Given the description of an element on the screen output the (x, y) to click on. 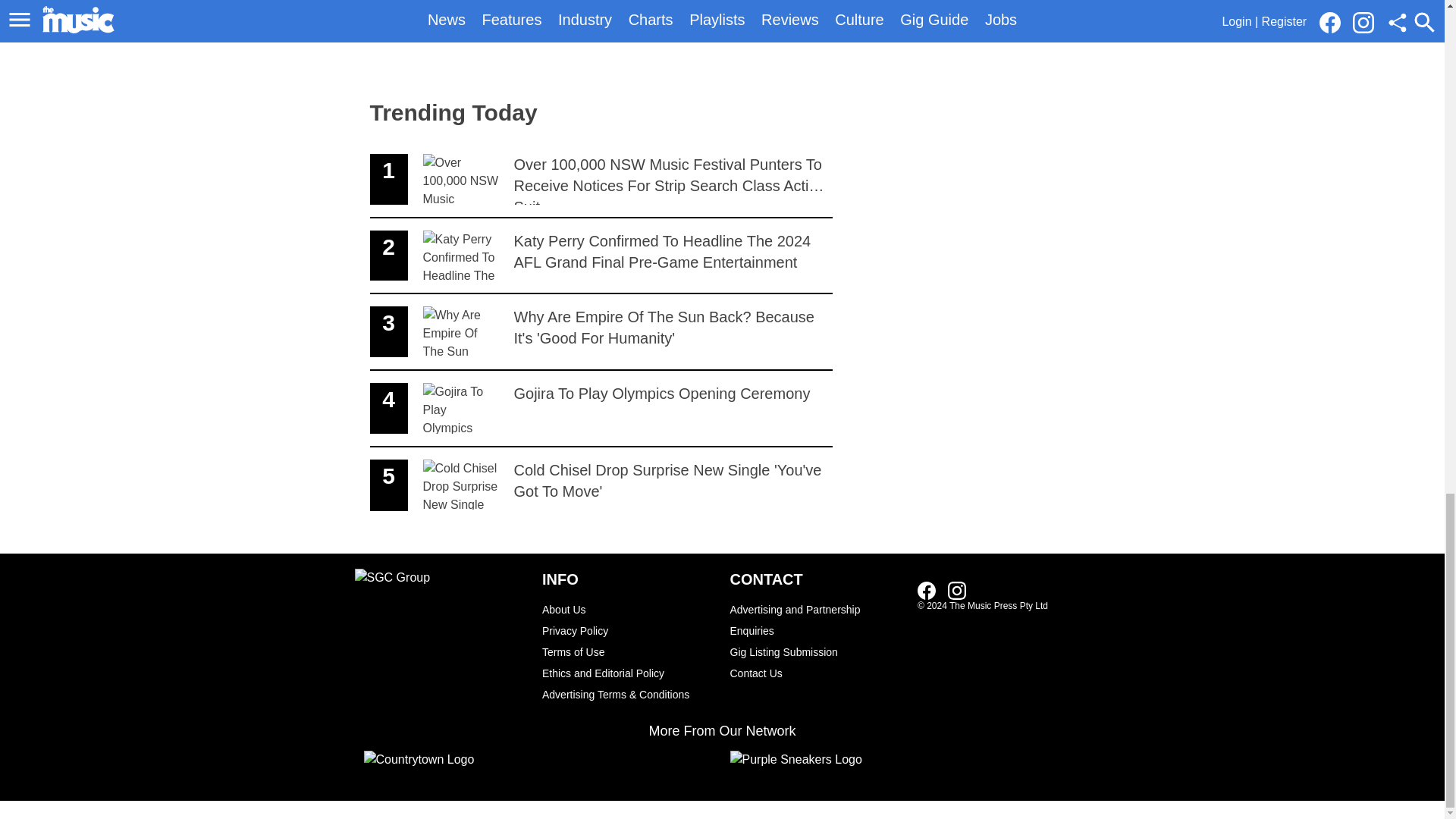
Link to our Instagram (956, 590)
Link to our Facebook (926, 590)
Advertising and Partnership Enquiries (815, 619)
Contact Us (815, 672)
Gig Listing Submission (815, 651)
Privacy Policy (627, 630)
Link to our Facebook (930, 589)
Terms of Use (627, 651)
Ethics and Editorial Policy (627, 672)
About Us (627, 608)
